Given the description of an element on the screen output the (x, y) to click on. 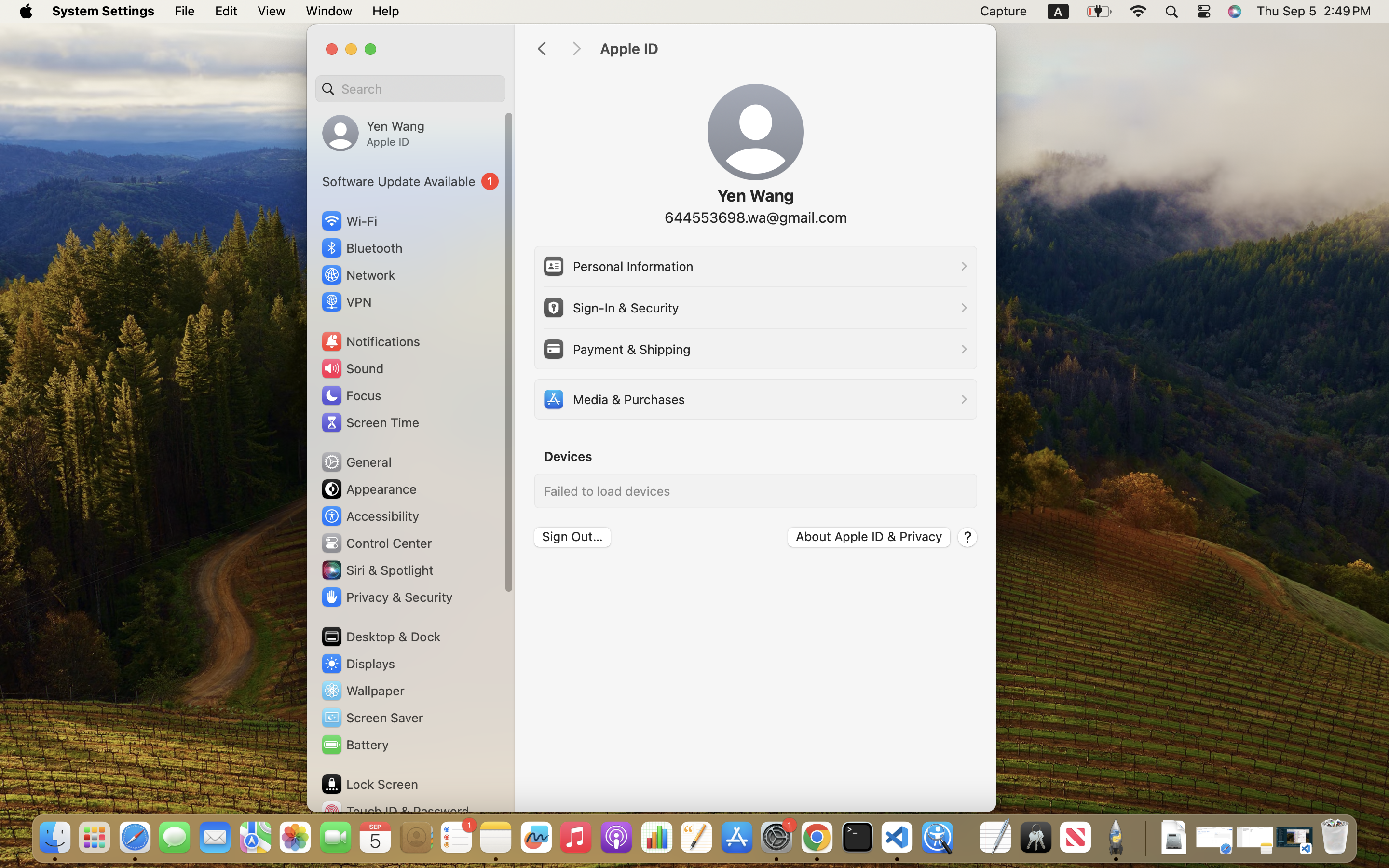
Control Center Element type: AXStaticText (376, 542)
Siri & Spotlight Element type: AXStaticText (376, 569)
Failed to load devices Element type: AXStaticText (607, 490)
